Given the description of an element on the screen output the (x, y) to click on. 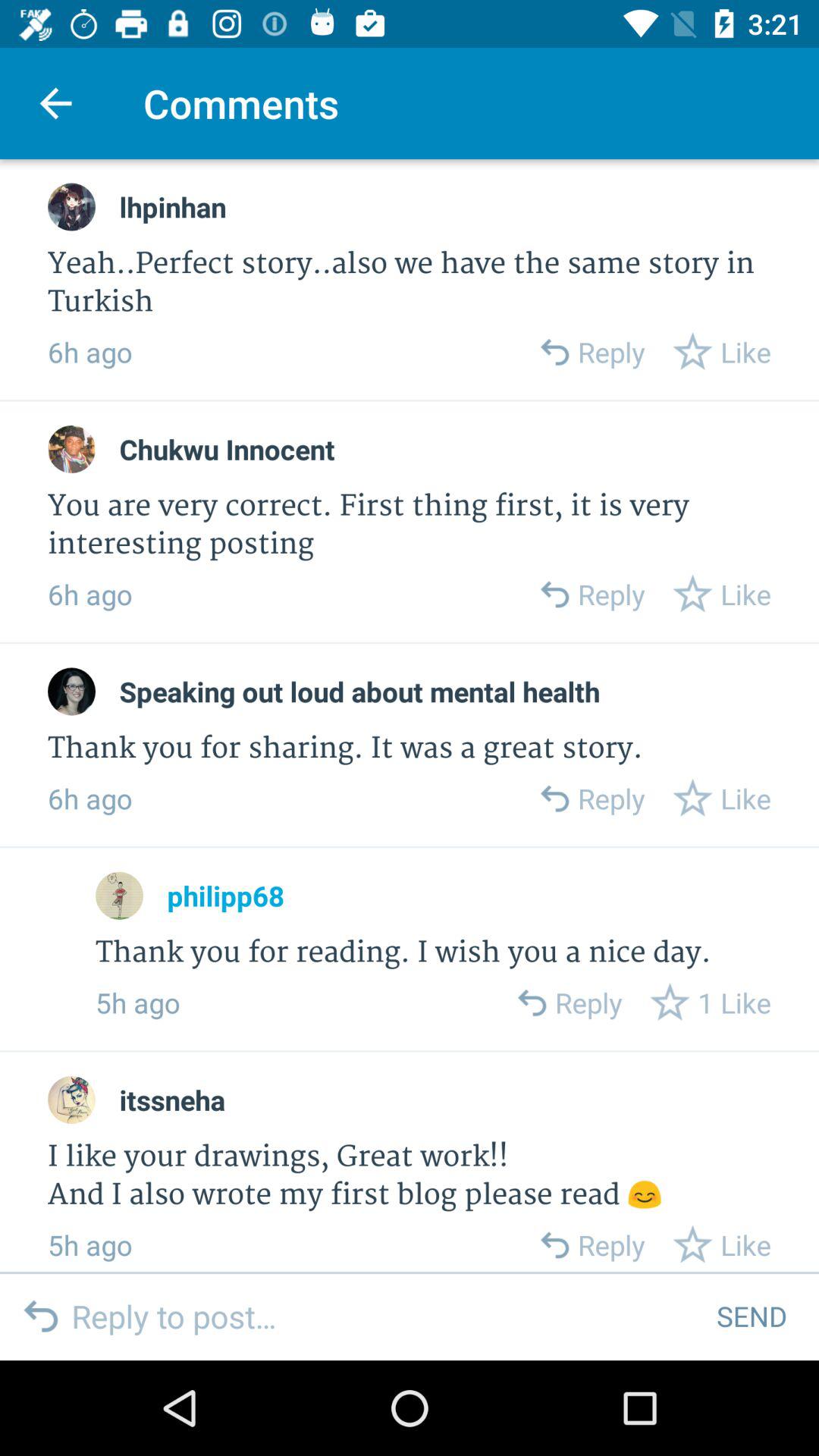
view profile (71, 206)
